Given the description of an element on the screen output the (x, y) to click on. 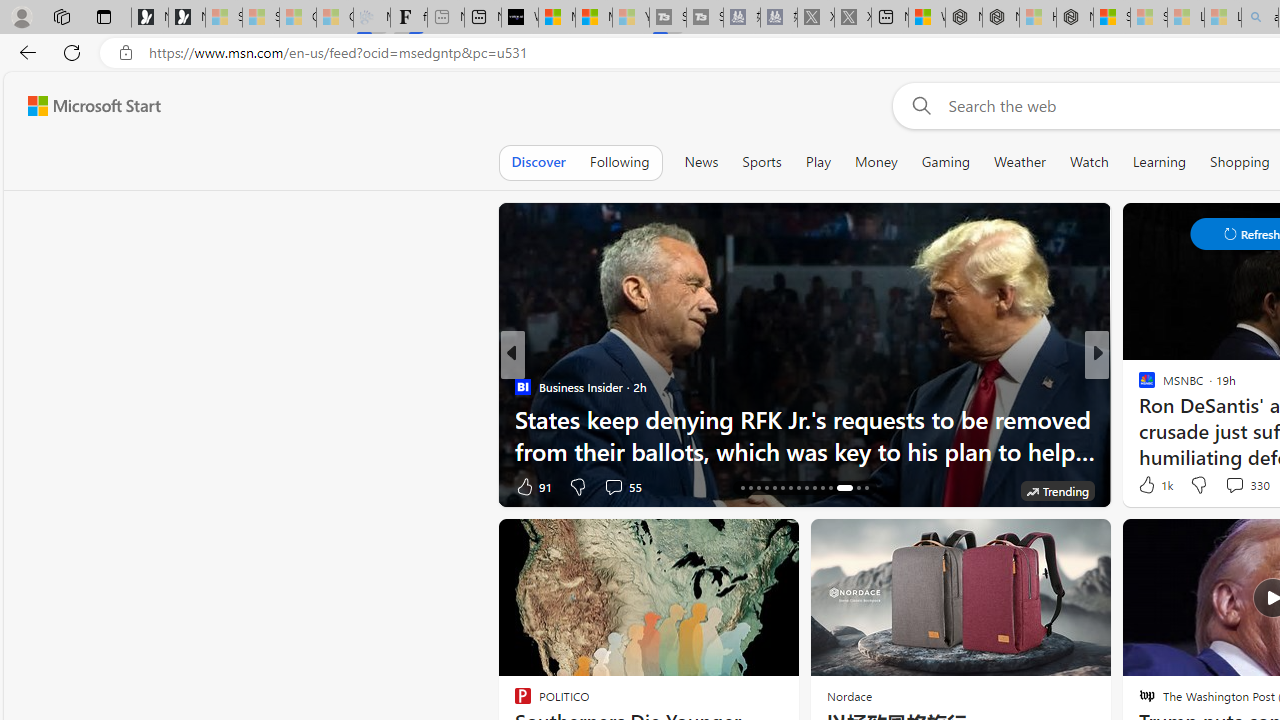
Play (818, 162)
Play (817, 161)
View comments 330 Comment (1246, 484)
View comments 152 Comment (11, 485)
AutomationID: tab-20 (774, 487)
1k Like (1154, 484)
